Given the description of an element on the screen output the (x, y) to click on. 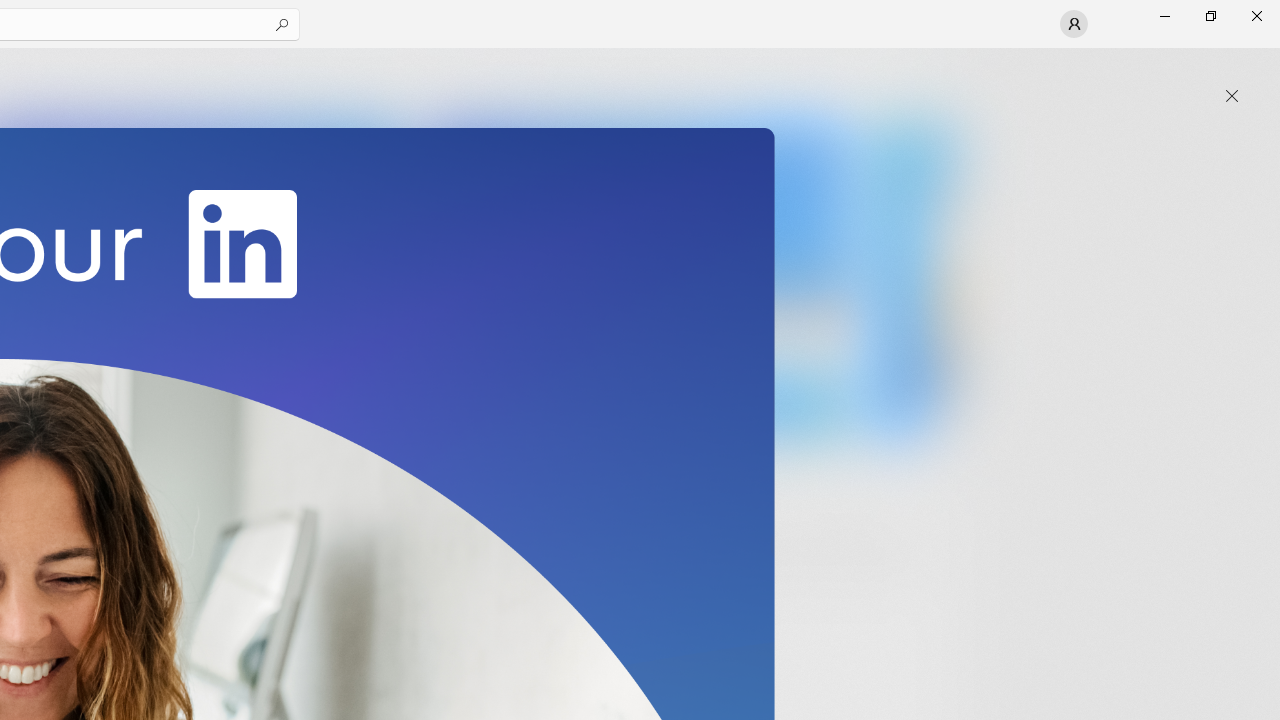
User profile (1073, 24)
See all (924, 72)
Close Microsoft Store (1256, 15)
Restore Microsoft Store (1210, 15)
close popup window (1232, 95)
Screenshot 4 (912, 279)
Screenshot 3 (636, 279)
Minimize Microsoft Store (1164, 15)
